Given the description of an element on the screen output the (x, y) to click on. 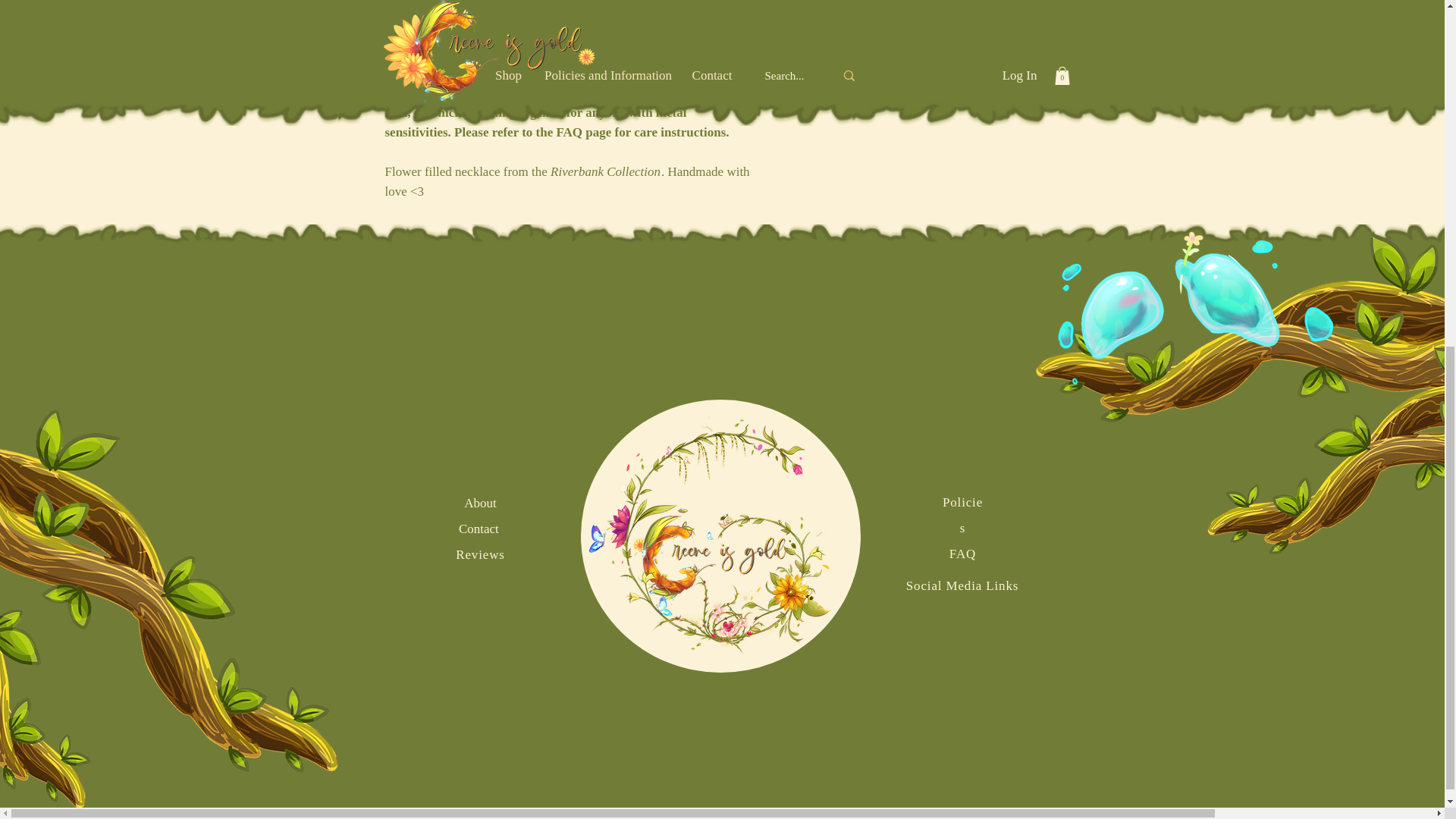
Social Media Links (961, 585)
Reviews (480, 554)
Contact (478, 528)
slime1.png (1195, 308)
Policies (962, 515)
Smile.io Rewards Program Launcher (68, 156)
FAQ (962, 554)
About (480, 503)
